Given the description of an element on the screen output the (x, y) to click on. 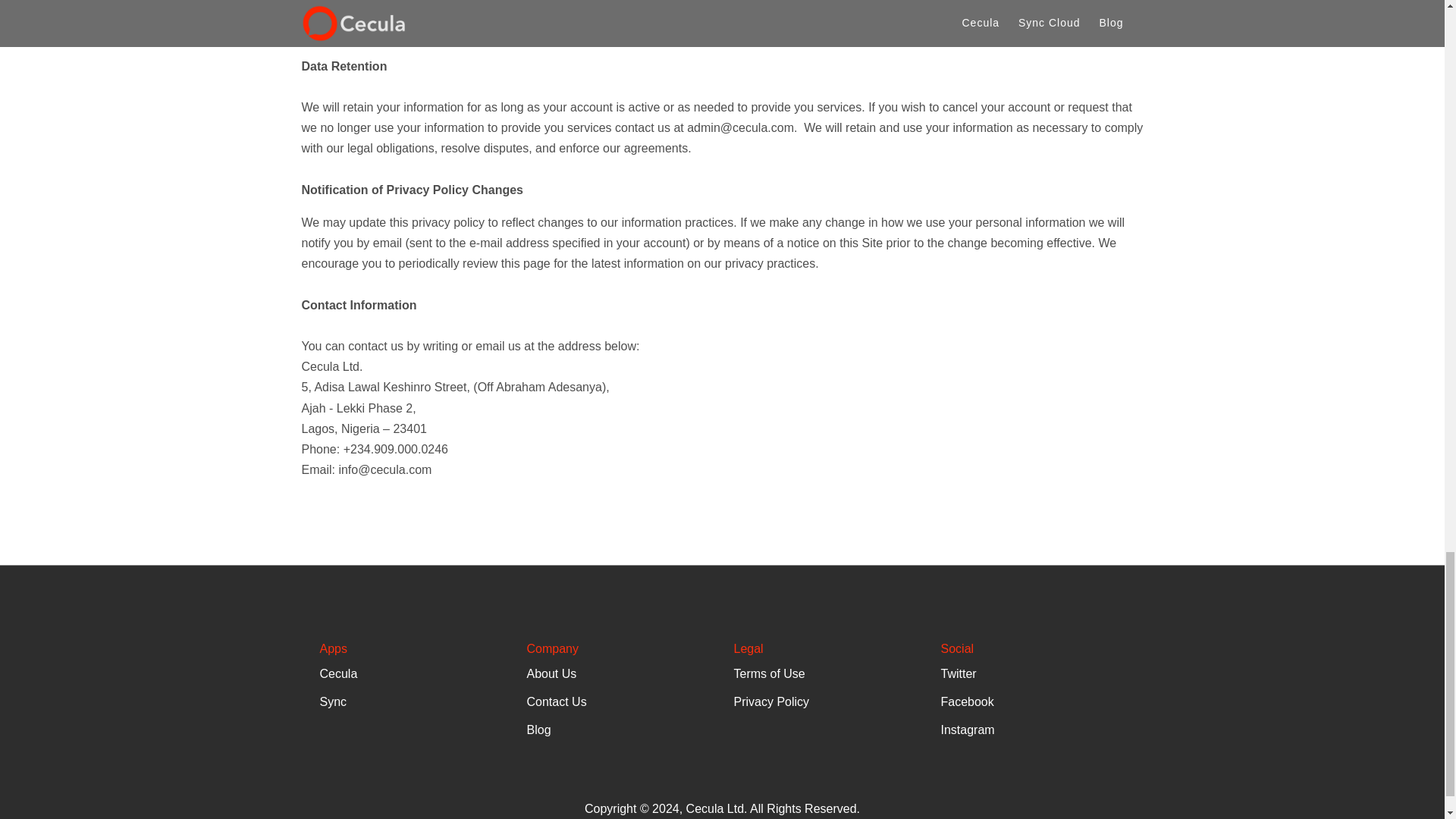
Contact Us (555, 701)
Terms of Use (769, 673)
Twitter (957, 673)
Cecula (339, 673)
Instagram (967, 729)
About Us (550, 673)
Privacy Policy (771, 701)
Sync (333, 701)
Facebook (966, 701)
Blog (537, 729)
